Given the description of an element on the screen output the (x, y) to click on. 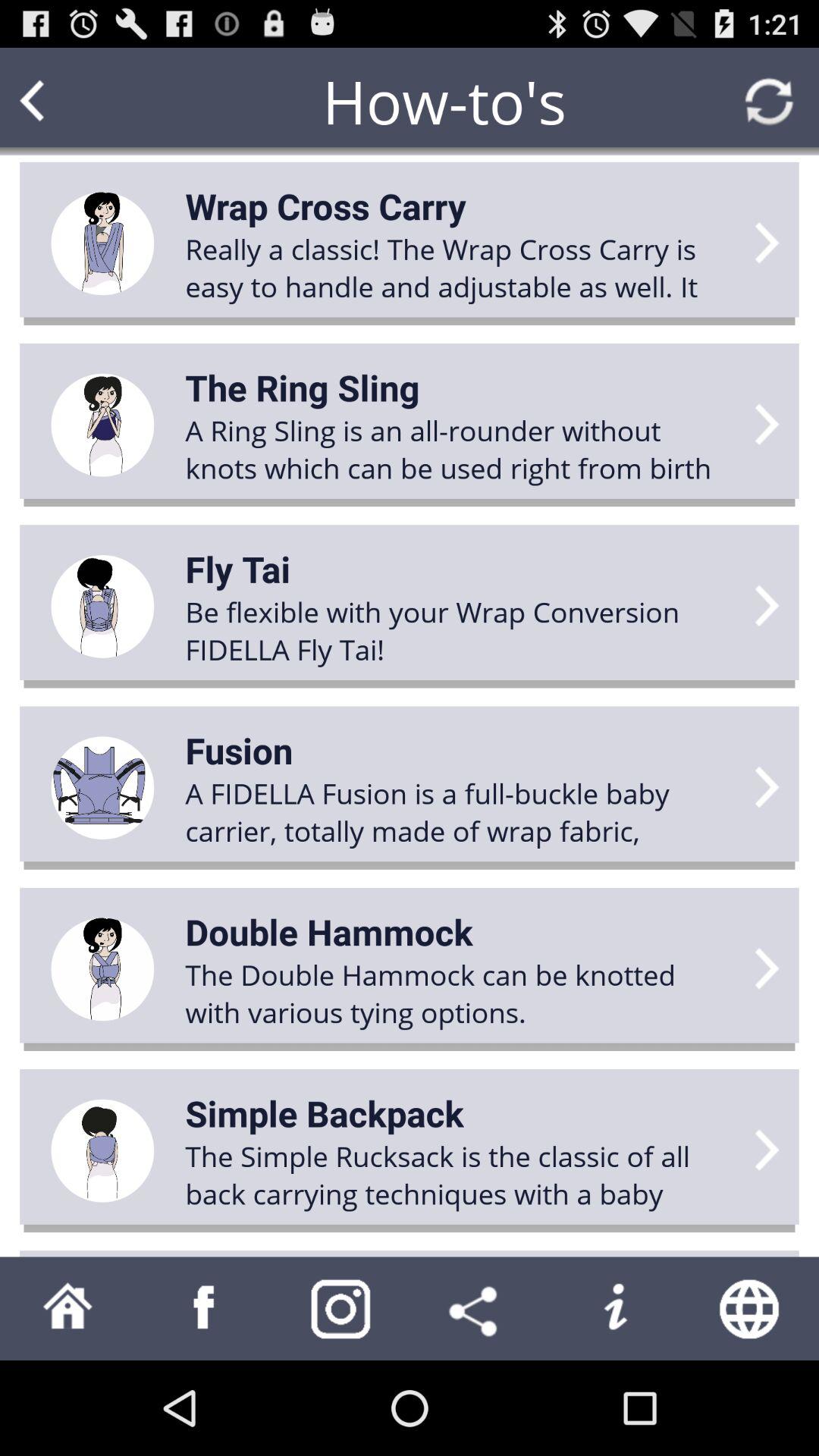
share to facebook (204, 1308)
